Given the description of an element on the screen output the (x, y) to click on. 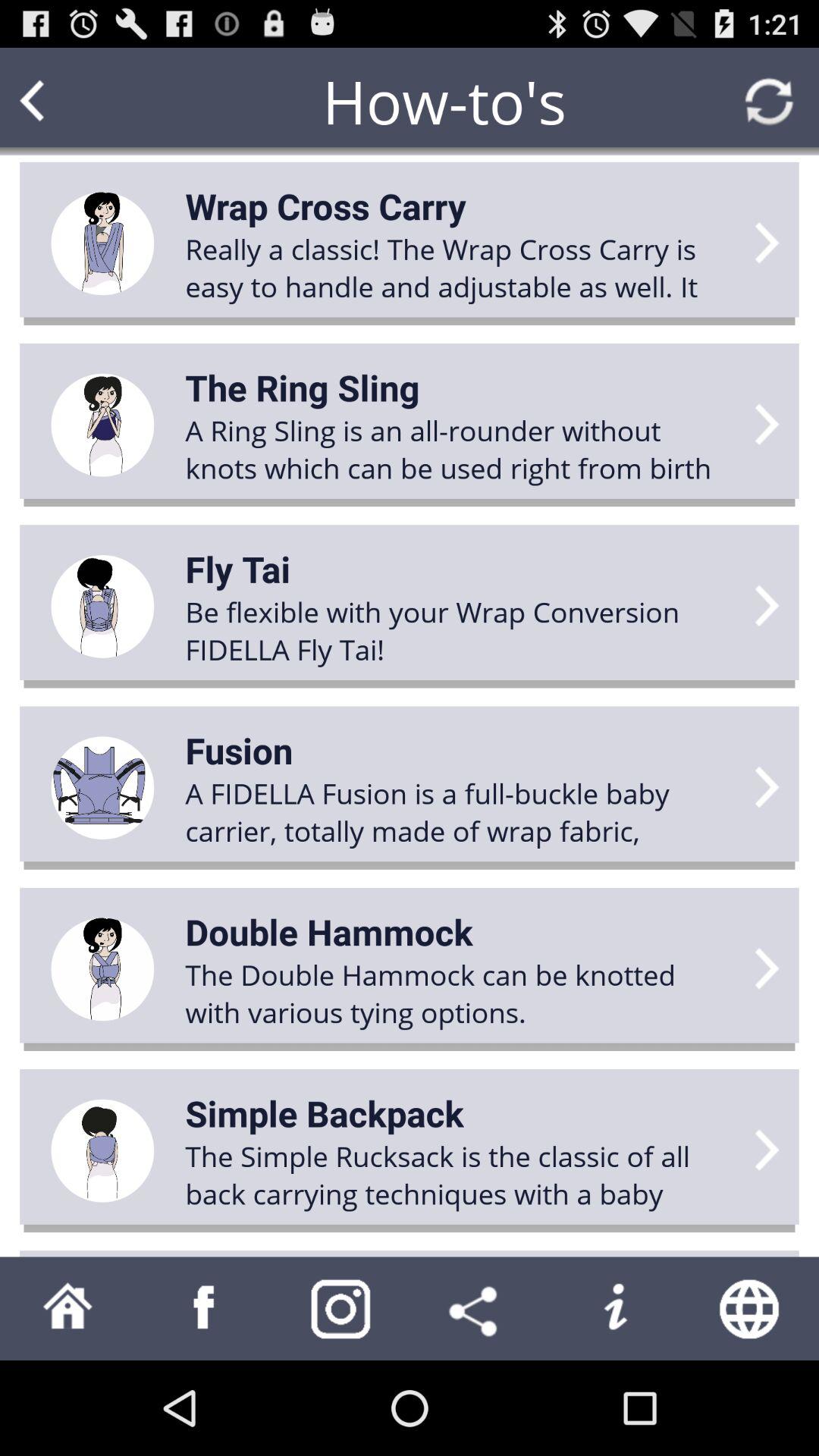
share to facebook (204, 1308)
